Given the description of an element on the screen output the (x, y) to click on. 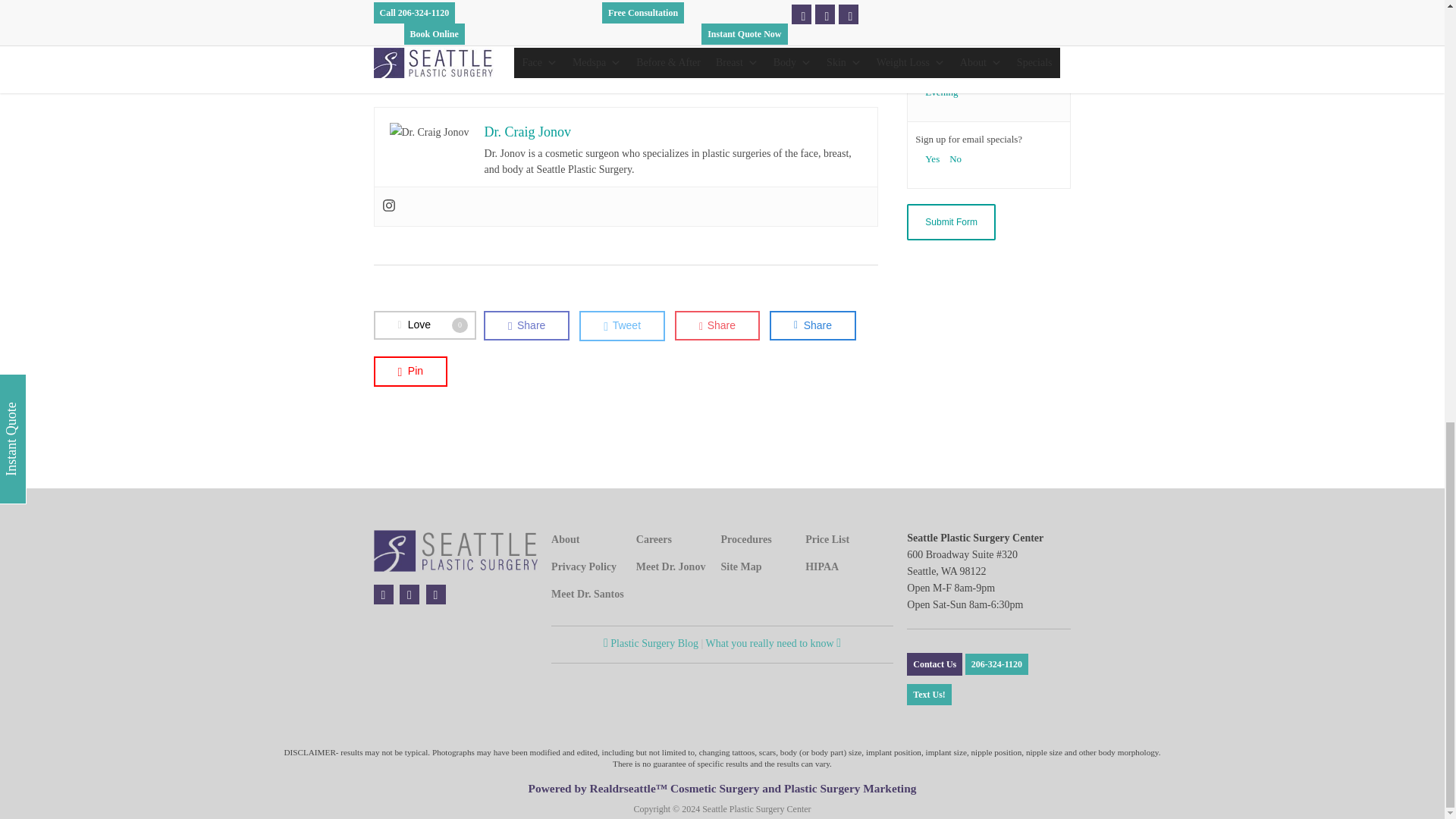
Love this (424, 325)
Tweet this (622, 326)
Submit Form (951, 221)
Pin this (409, 370)
Share this (813, 325)
Share this (526, 325)
Share this (717, 325)
